Given the description of an element on the screen output the (x, y) to click on. 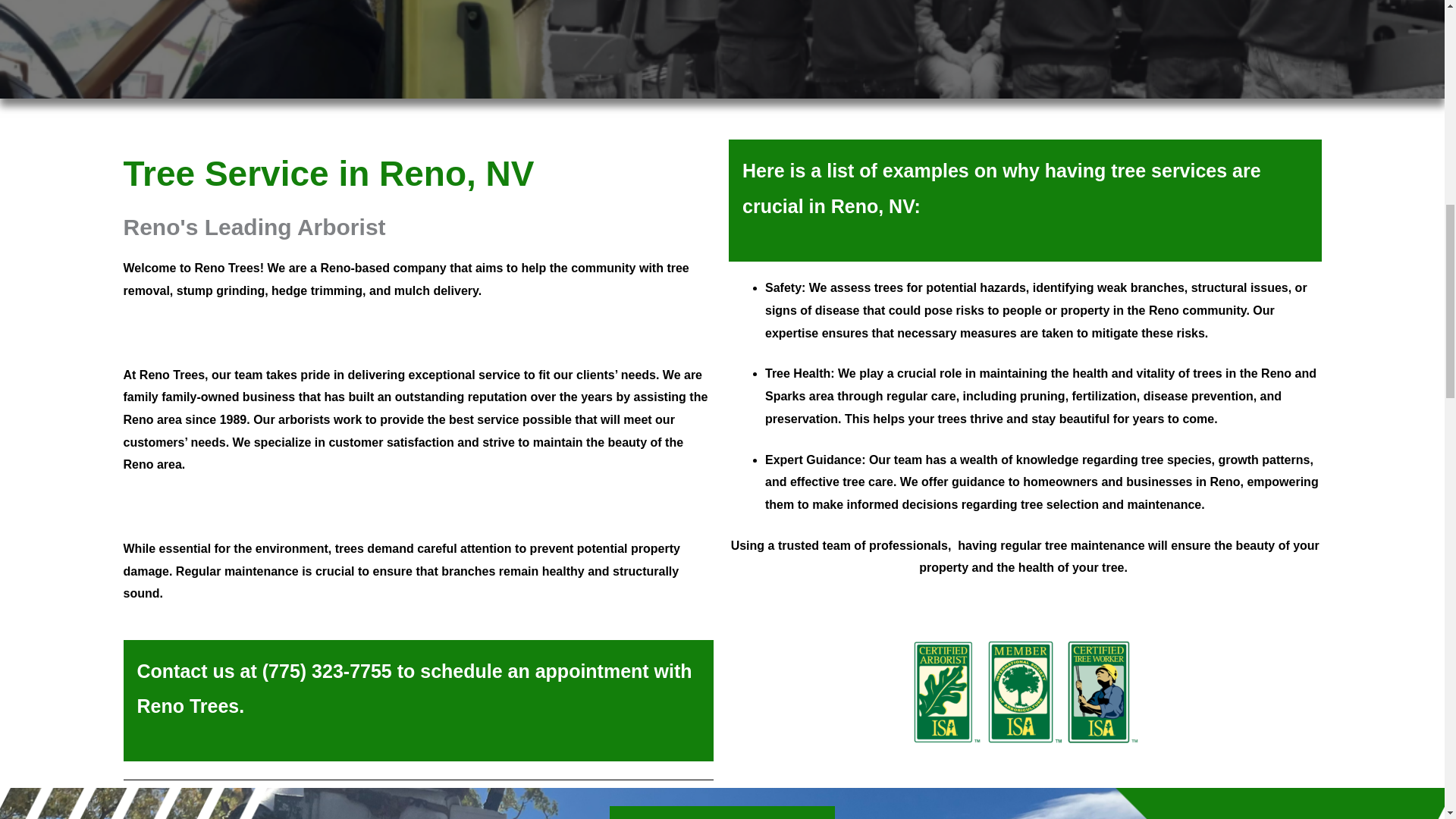
LEARN MORE (189, 812)
